Given the description of an element on the screen output the (x, y) to click on. 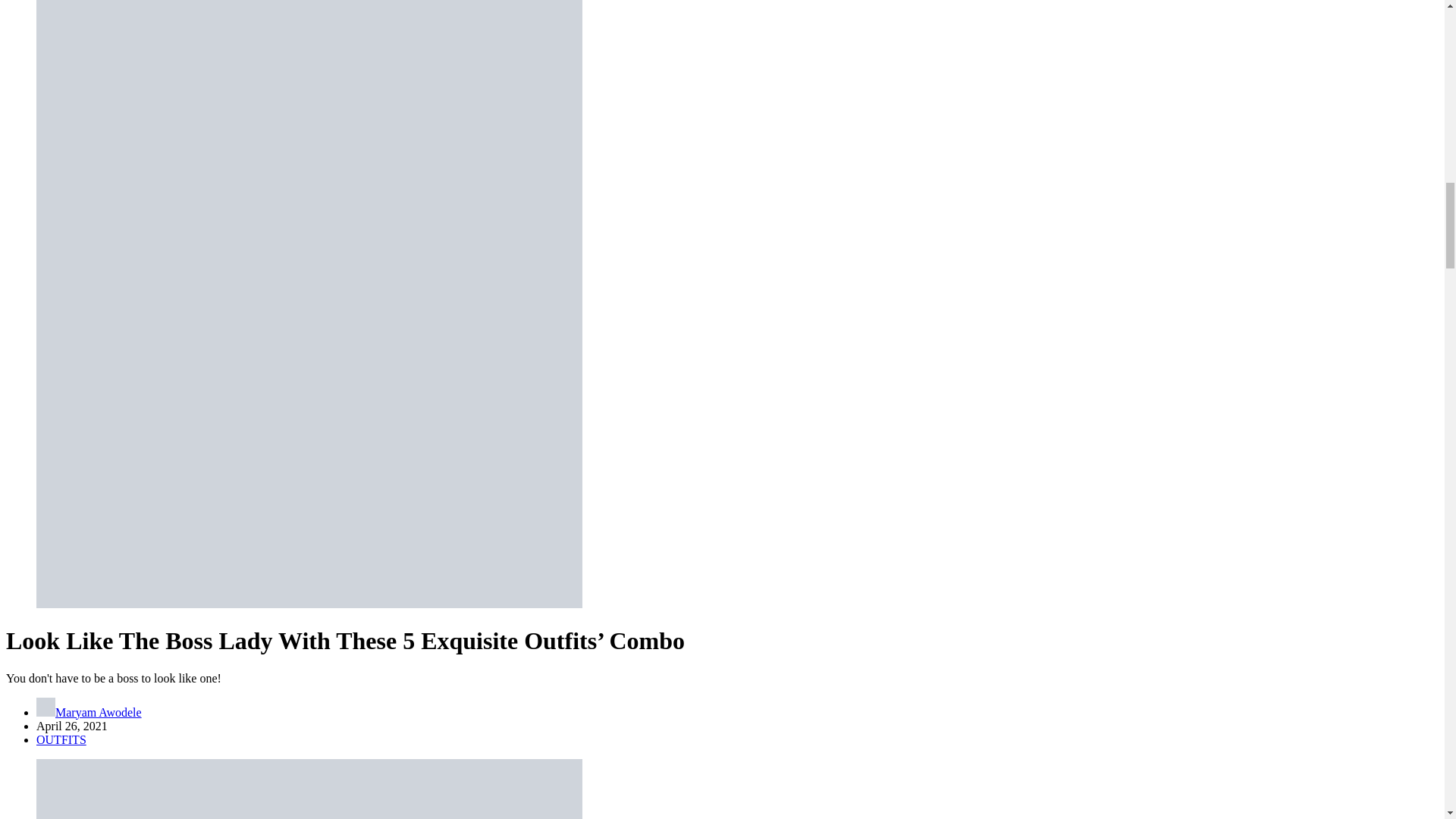
Posts by Maryam Awodele (98, 712)
